Given the description of an element on the screen output the (x, y) to click on. 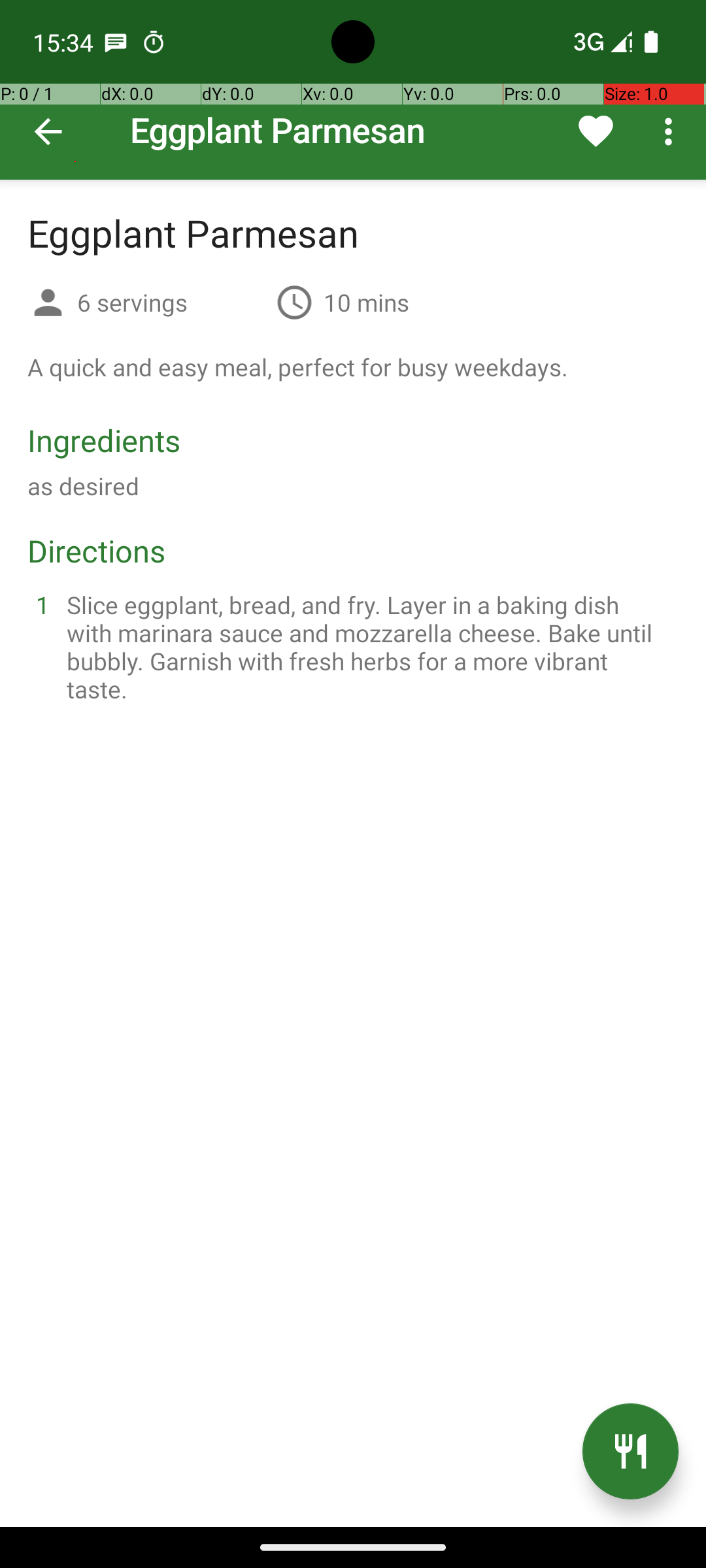
Slice eggplant, bread, and fry. Layer in a baking dish with marinara sauce and mozzarella cheese. Bake until bubbly. Garnish with fresh herbs for a more vibrant taste. Element type: android.widget.TextView (368, 646)
